Given the description of an element on the screen output the (x, y) to click on. 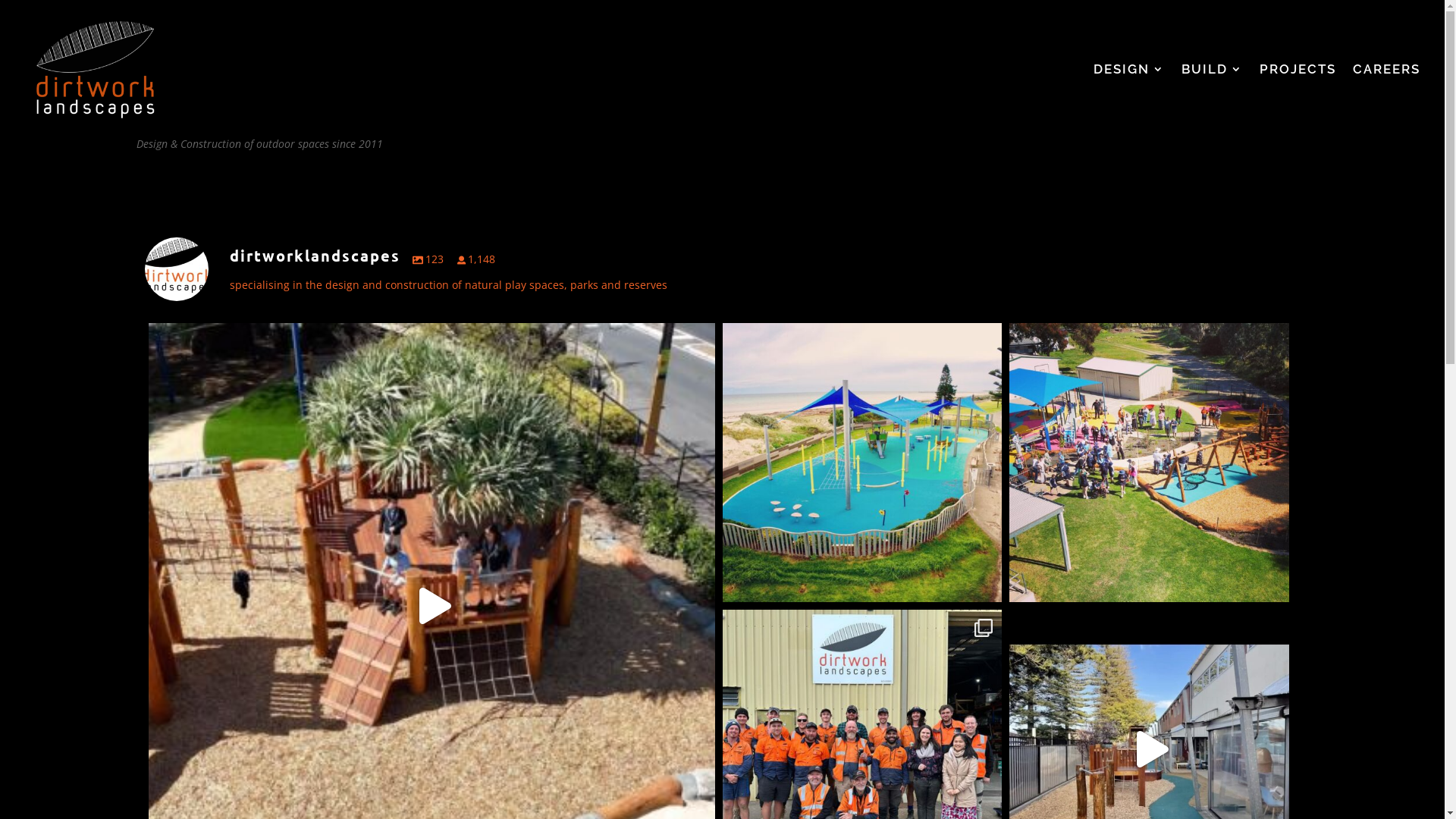
PROJECTS Element type: text (1297, 100)
BUILD Element type: text (1211, 100)
CAREERS Element type: text (1386, 100)
DESIGN Element type: text (1128, 100)
